Given the description of an element on the screen output the (x, y) to click on. 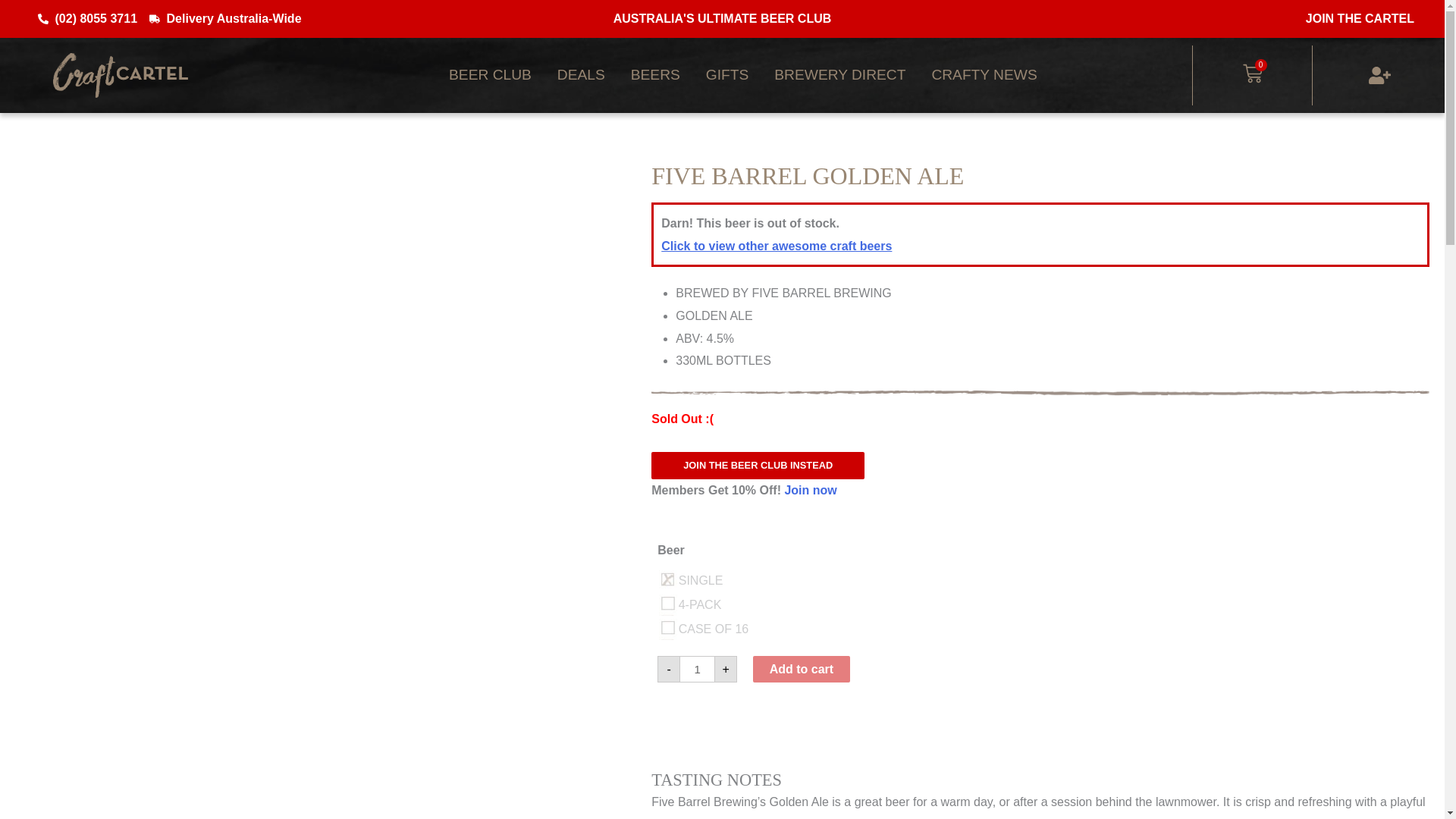
JOIN THE CARTEL (1359, 18)
DEALS (580, 74)
BREWERY DIRECT (839, 74)
GIFTS (727, 74)
Qty (696, 669)
CRAFTY NEWS (983, 74)
1 (696, 669)
BEERS (655, 74)
BEER CLUB (489, 74)
